Given the description of an element on the screen output the (x, y) to click on. 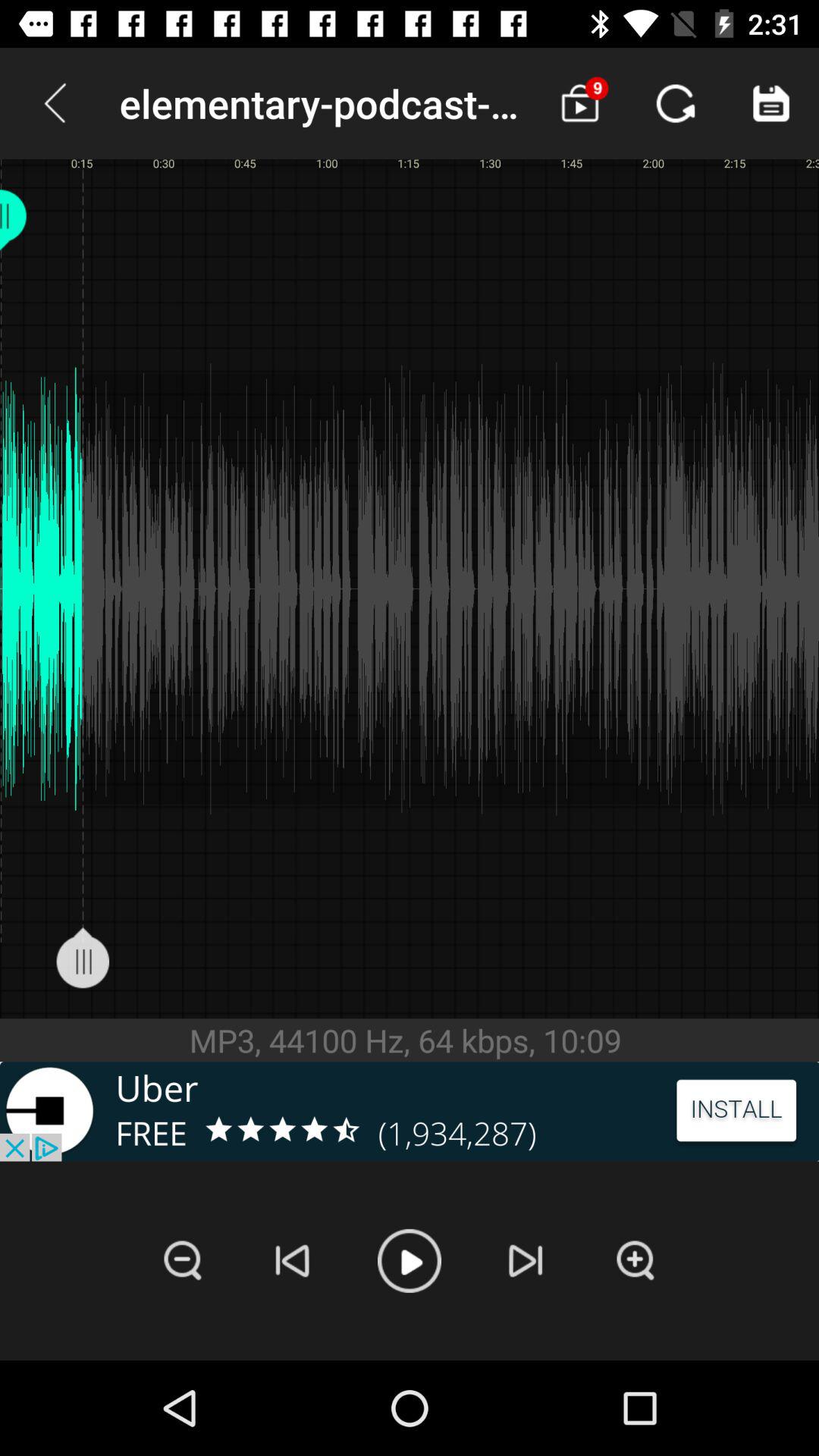
zoom in (635, 1260)
